Given the description of an element on the screen output the (x, y) to click on. 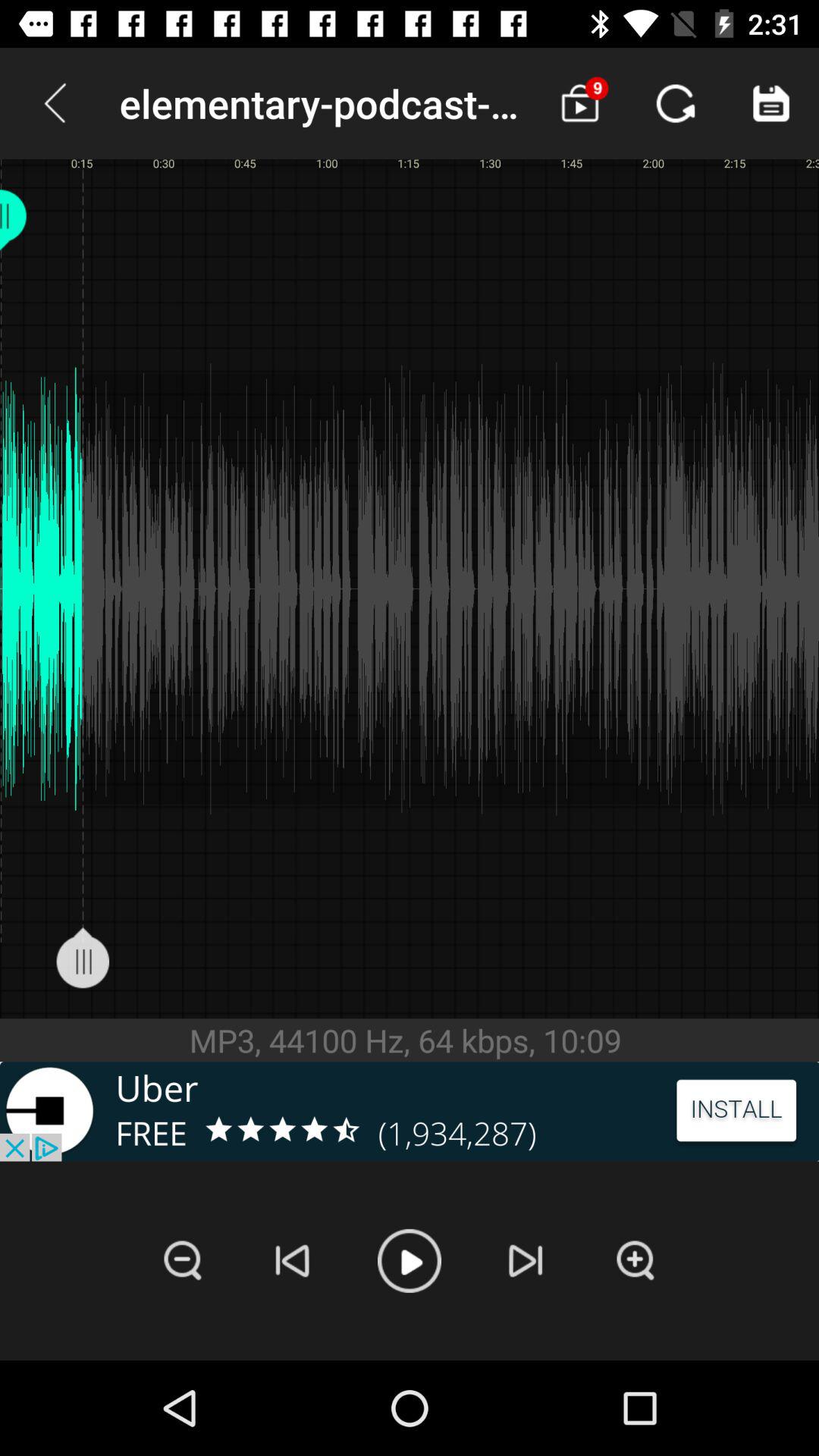
zoom in (635, 1260)
